Given the description of an element on the screen output the (x, y) to click on. 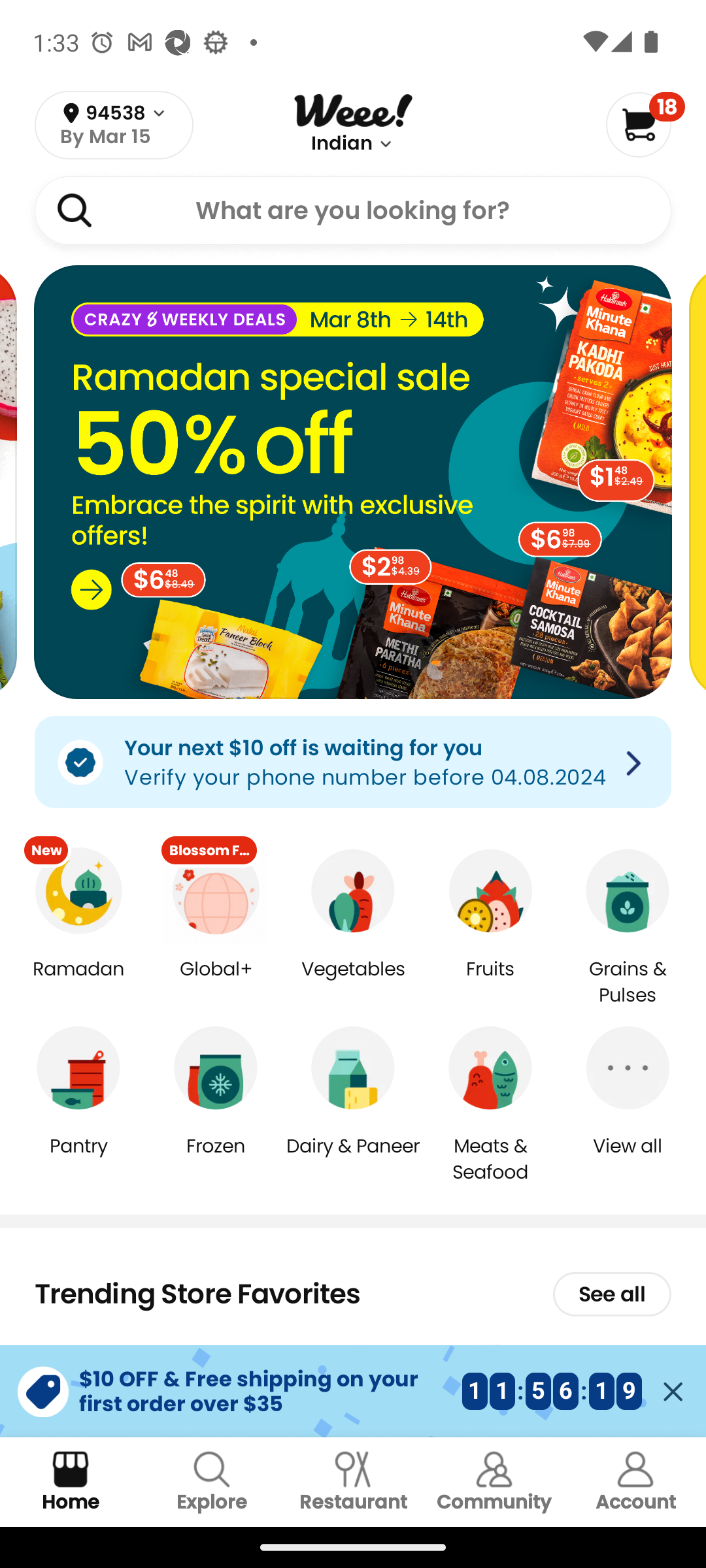
94538 By Mar 15 (113, 124)
18 (644, 124)
Indian (341, 143)
What are you looking for? (352, 209)
Ramadan (77, 982)
Global+ (215, 982)
Vegetables (352, 982)
Fruits (490, 982)
Grains & Pulses (627, 982)
Pantry (77, 1159)
Frozen (215, 1159)
Dairy & Paneer (352, 1159)
Meats & Seafood (490, 1158)
View all (627, 1159)
Home (70, 1482)
Explore (211, 1482)
Restaurant (352, 1482)
Community (493, 1482)
Account (635, 1482)
